Given the description of an element on the screen output the (x, y) to click on. 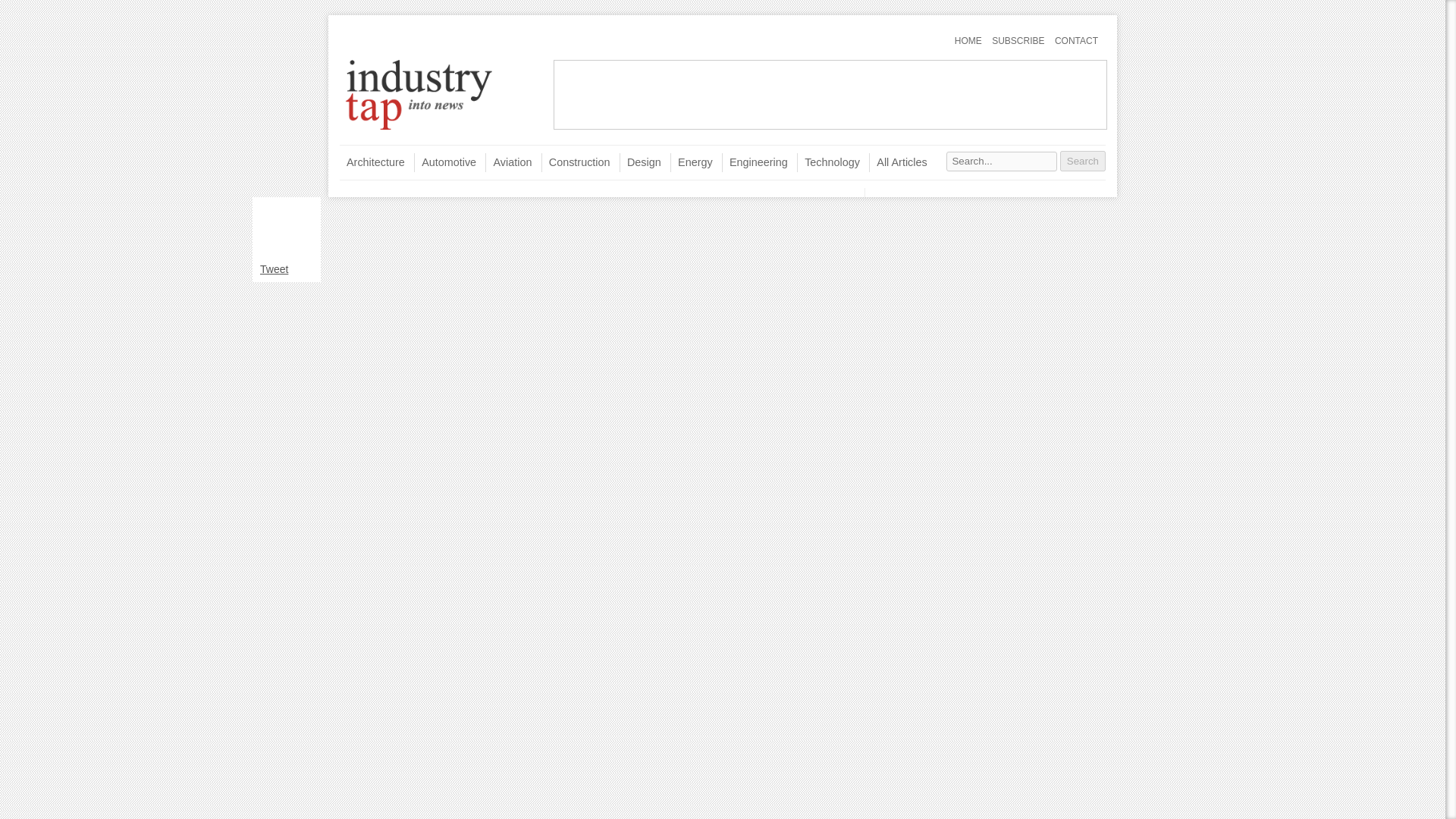
Aviation (507, 162)
Architecture (371, 162)
Search (1082, 160)
Automotive (444, 162)
Technology (828, 162)
Skip to content (368, 34)
Search (1082, 160)
All Articles (897, 162)
Design (640, 162)
Skip to content (368, 34)
Energy (691, 162)
Skip to content (368, 149)
HOME (968, 41)
SUBSCRIBE (1017, 41)
Industry Tap (419, 130)
